Given the description of an element on the screen output the (x, y) to click on. 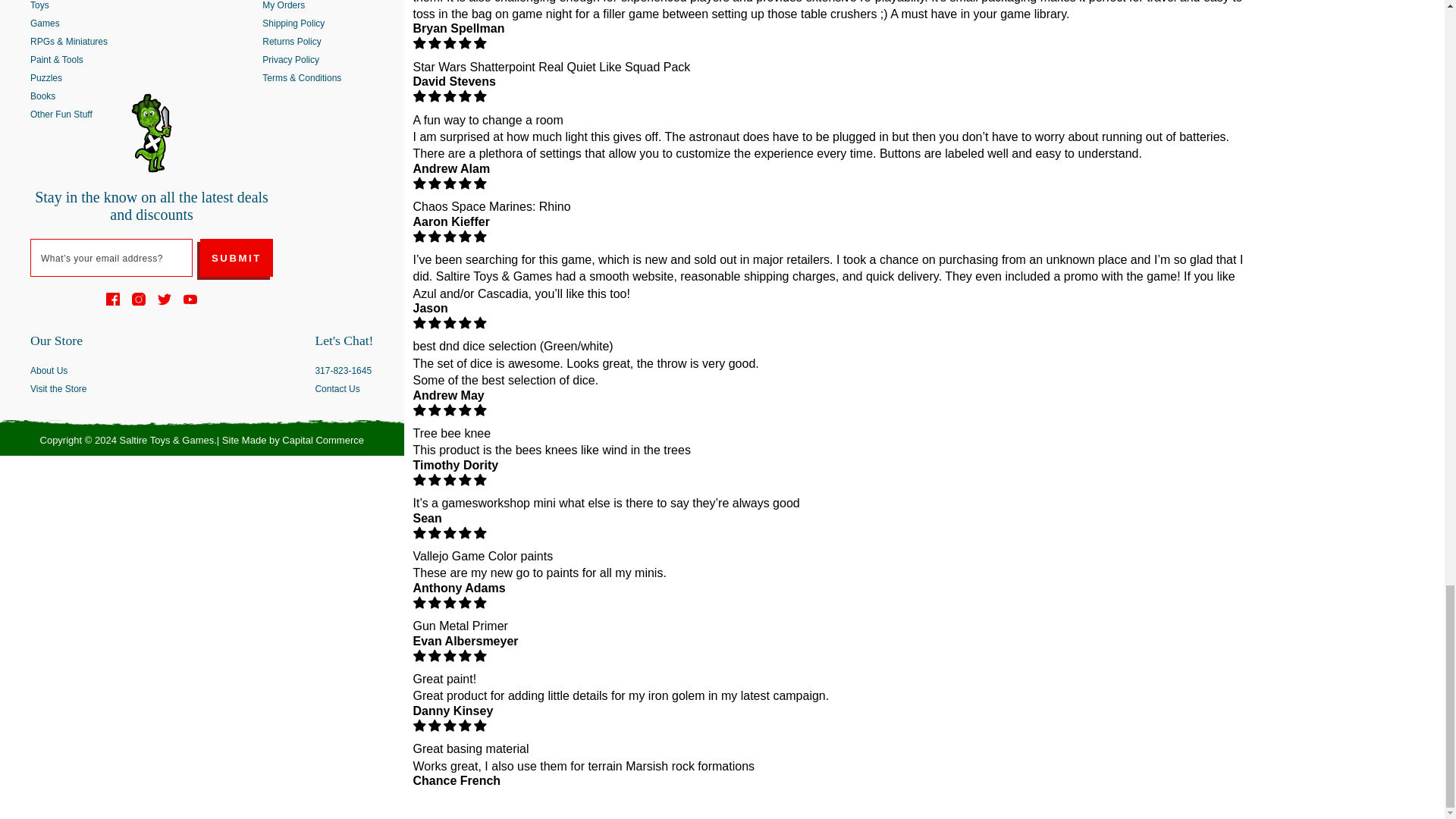
Facebook (112, 298)
YouTube (189, 298)
Twitter (164, 298)
Instagram (138, 298)
